Given the description of an element on the screen output the (x, y) to click on. 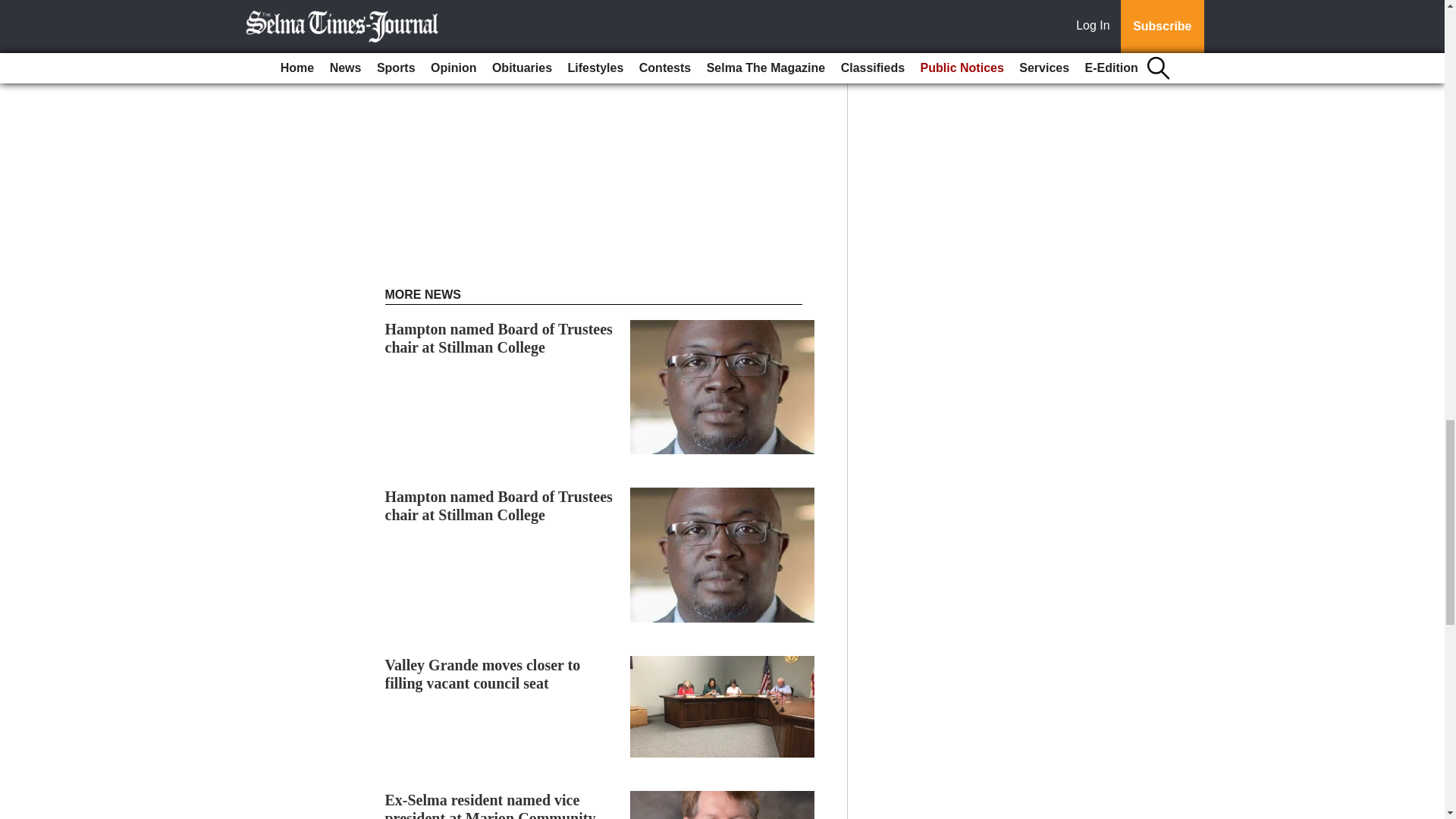
Valley Grande moves closer to filling vacant council seat (482, 673)
Hampton named Board of Trustees chair at Stillman College (498, 505)
Hampton named Board of Trustees chair at Stillman College (498, 338)
Hampton named Board of Trustees chair at Stillman College (498, 505)
Hampton named Board of Trustees chair at Stillman College (498, 338)
Valley Grande moves closer to filling vacant council seat (482, 673)
